Given the description of an element on the screen output the (x, y) to click on. 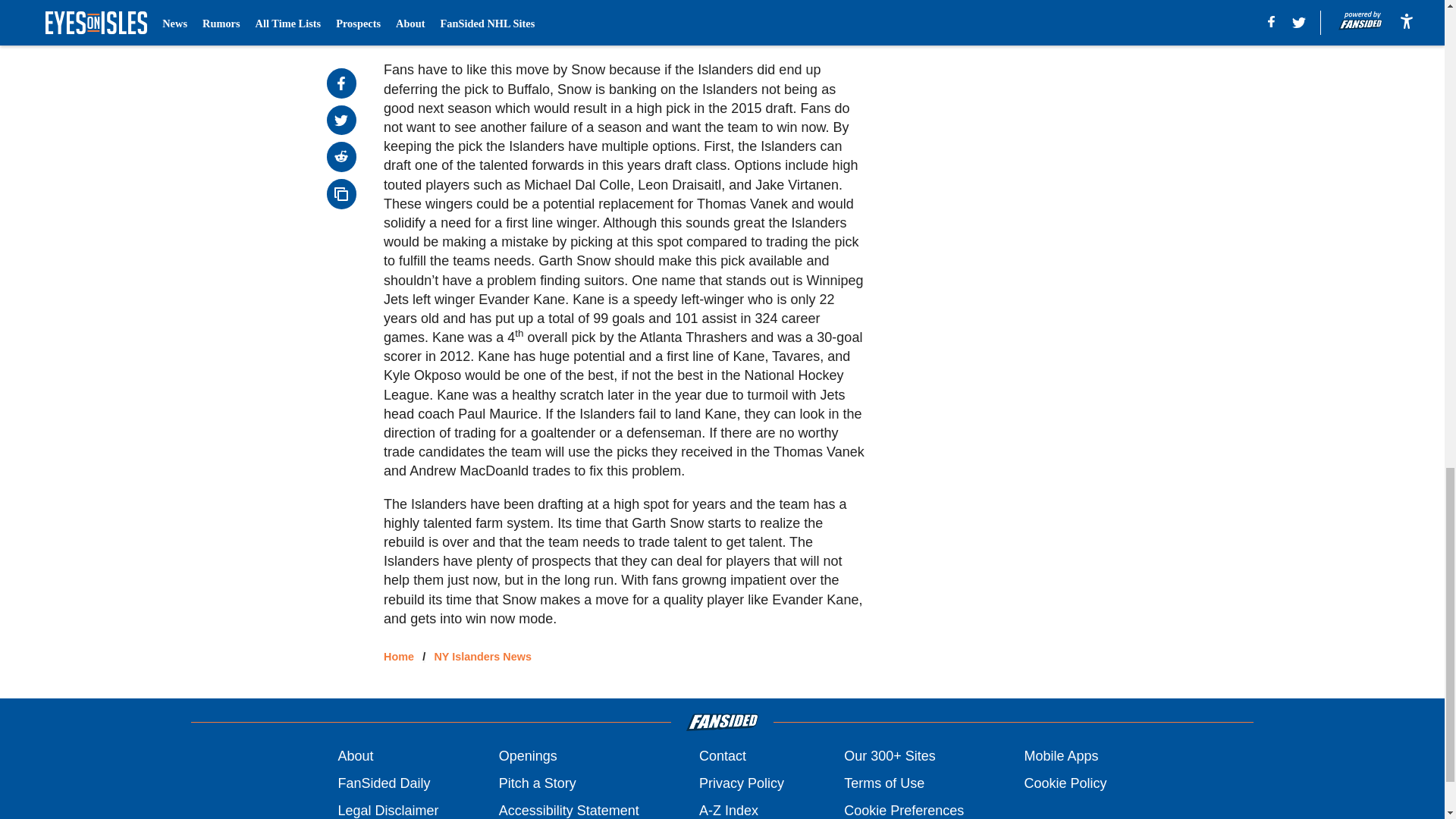
FanSided Daily (383, 783)
Openings (528, 755)
Home (398, 656)
Privacy Policy (741, 783)
Terms of Use (884, 783)
About (354, 755)
Pitch a Story (537, 783)
Contact (721, 755)
Legal Disclaimer (387, 810)
A-Z Index (728, 810)
